Given the description of an element on the screen output the (x, y) to click on. 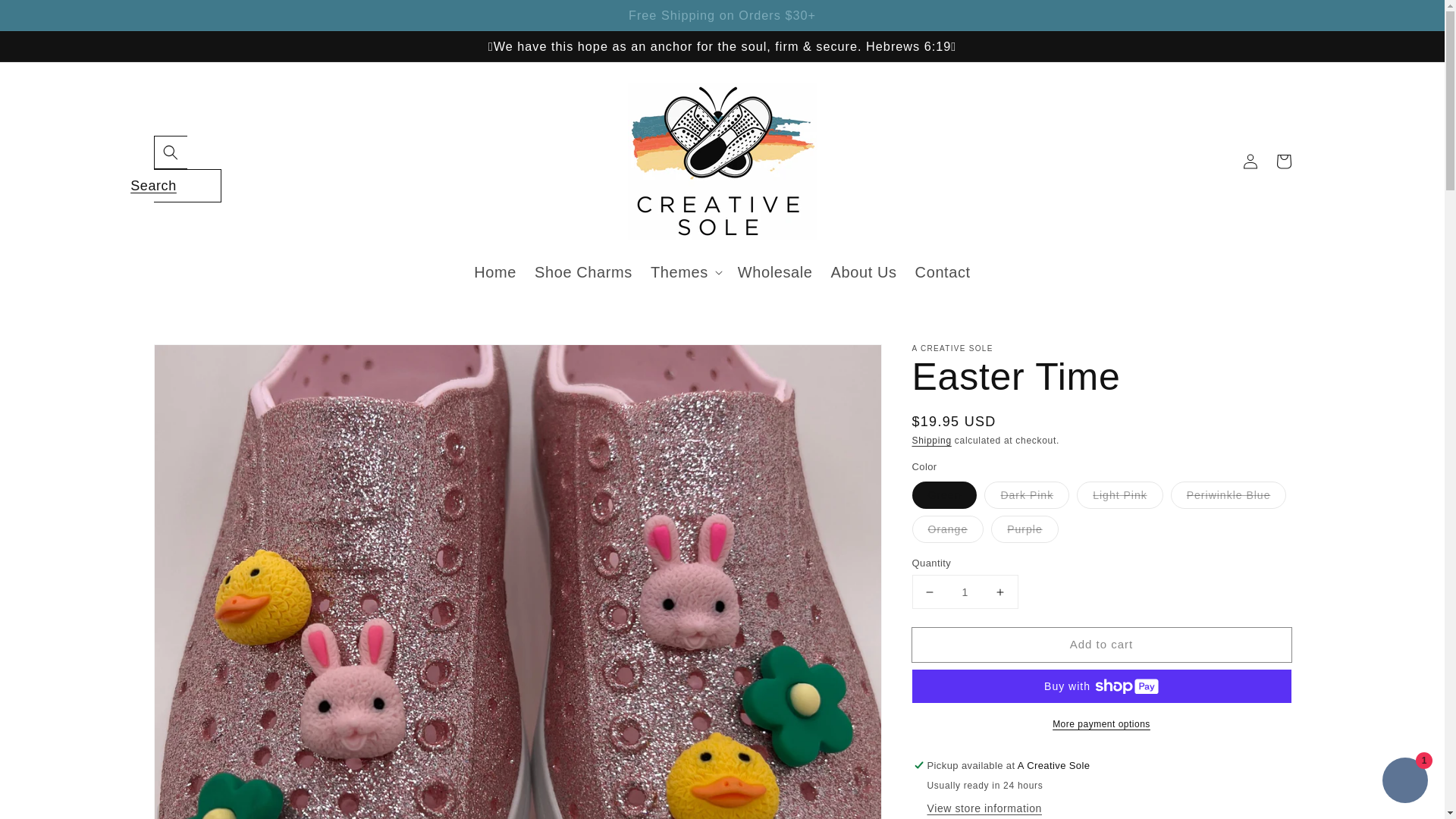
Skip to content (45, 16)
About Us (863, 272)
Cart (1283, 161)
Contact (942, 272)
1 (964, 591)
Log in (1249, 161)
Wholesale (775, 272)
Shopify online store chat (1404, 781)
Shoe Charms (583, 272)
